Given the description of an element on the screen output the (x, y) to click on. 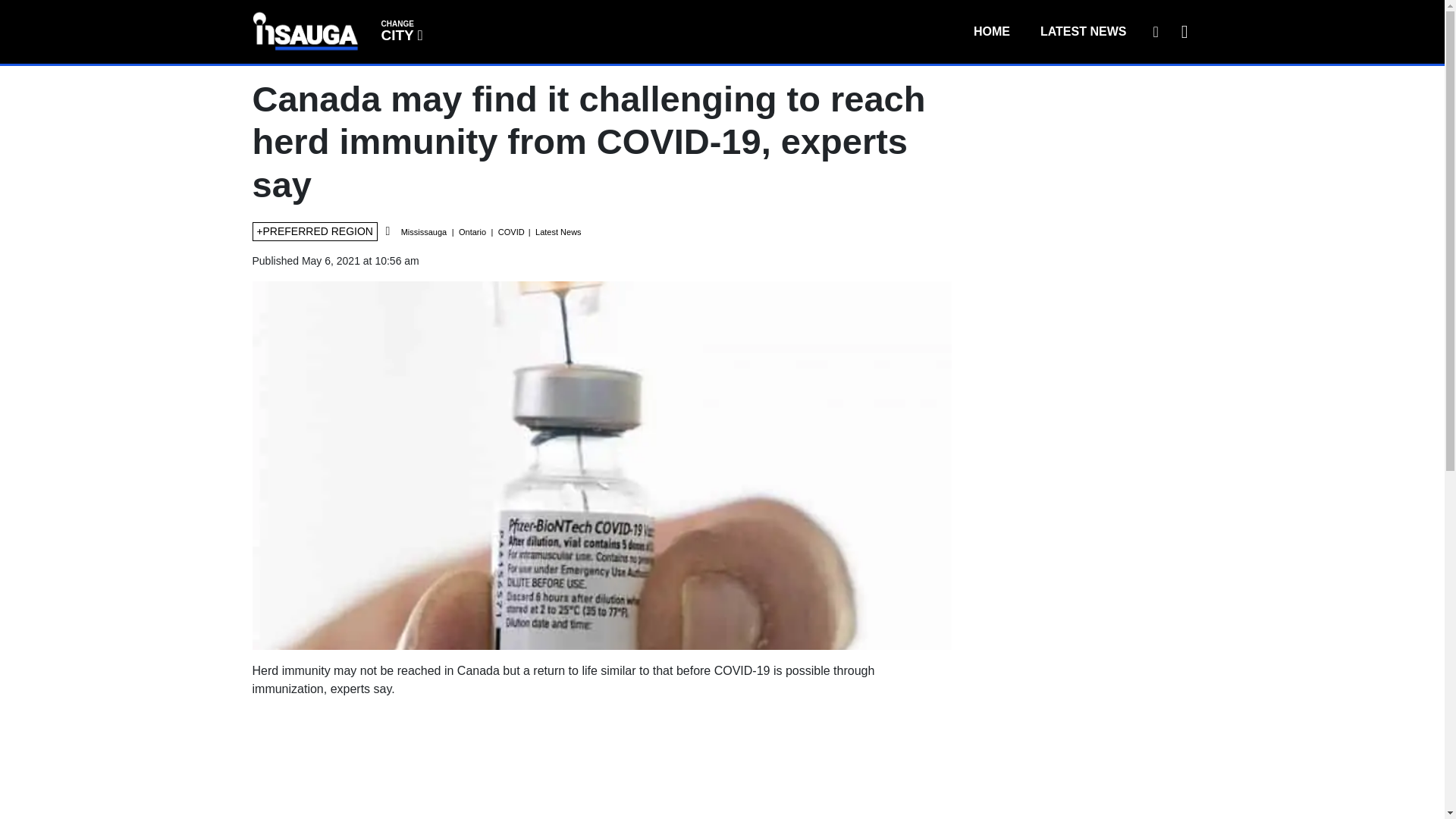
OPEN MENU (1181, 31)
HOME (991, 31)
SIGN UP FOR OUR NEWSLETTER (1155, 31)
LATEST NEWS (400, 30)
